Given the description of an element on the screen output the (x, y) to click on. 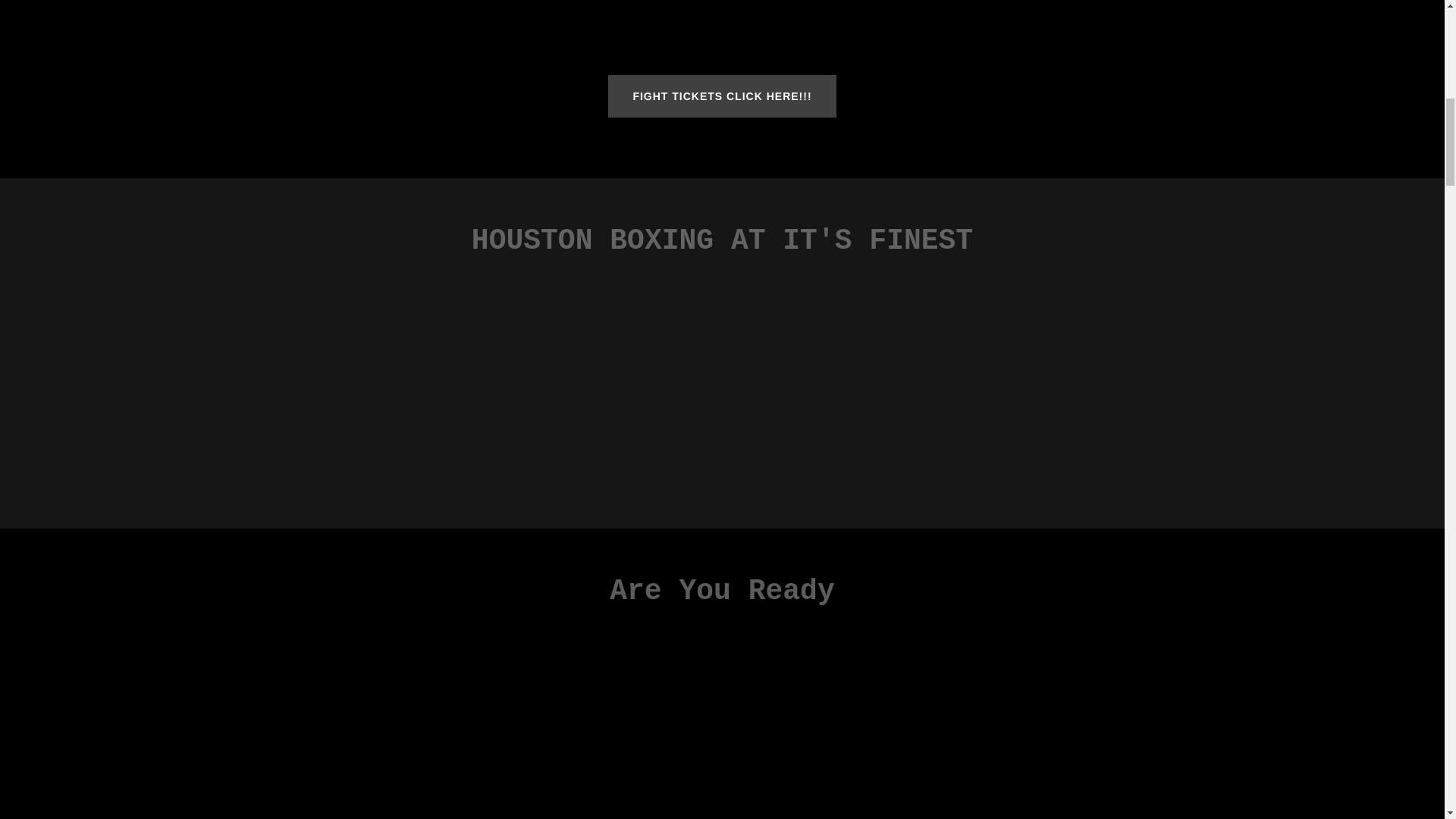
FIGHT TICKETS CLICK HERE!!! (721, 96)
